Given the description of an element on the screen output the (x, y) to click on. 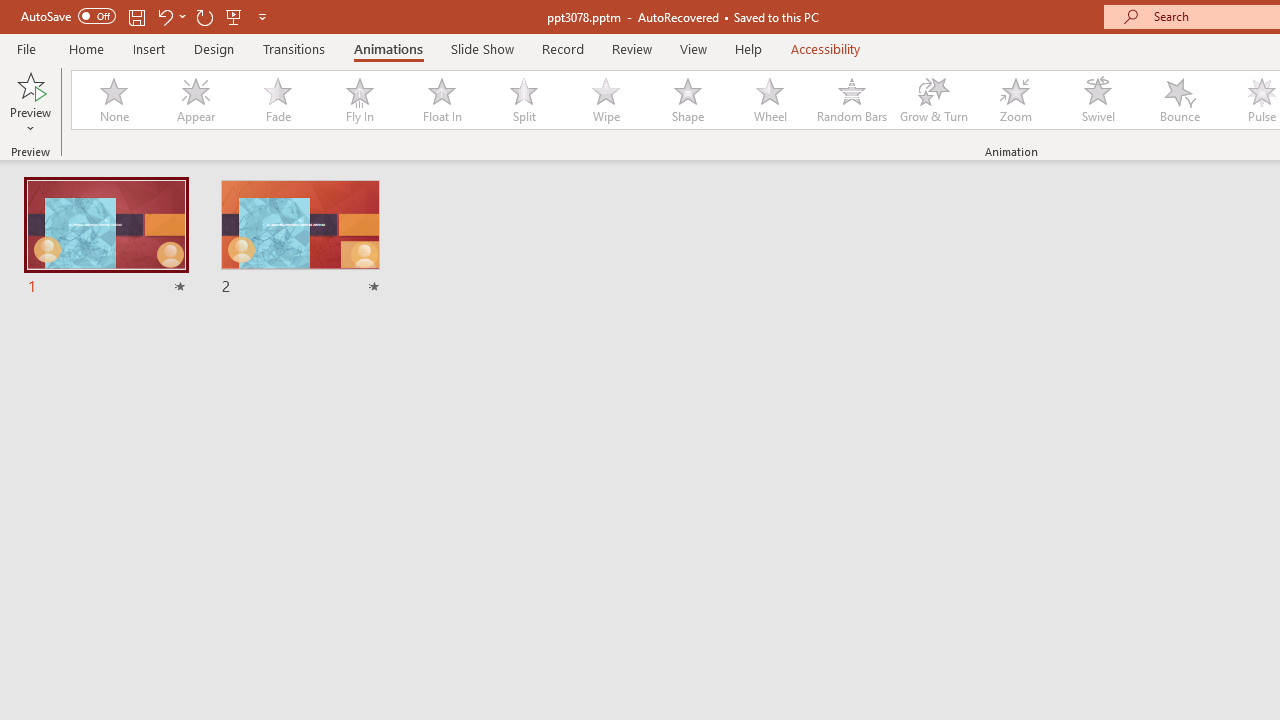
Wipe (605, 100)
Bounce (1180, 100)
